Given the description of an element on the screen output the (x, y) to click on. 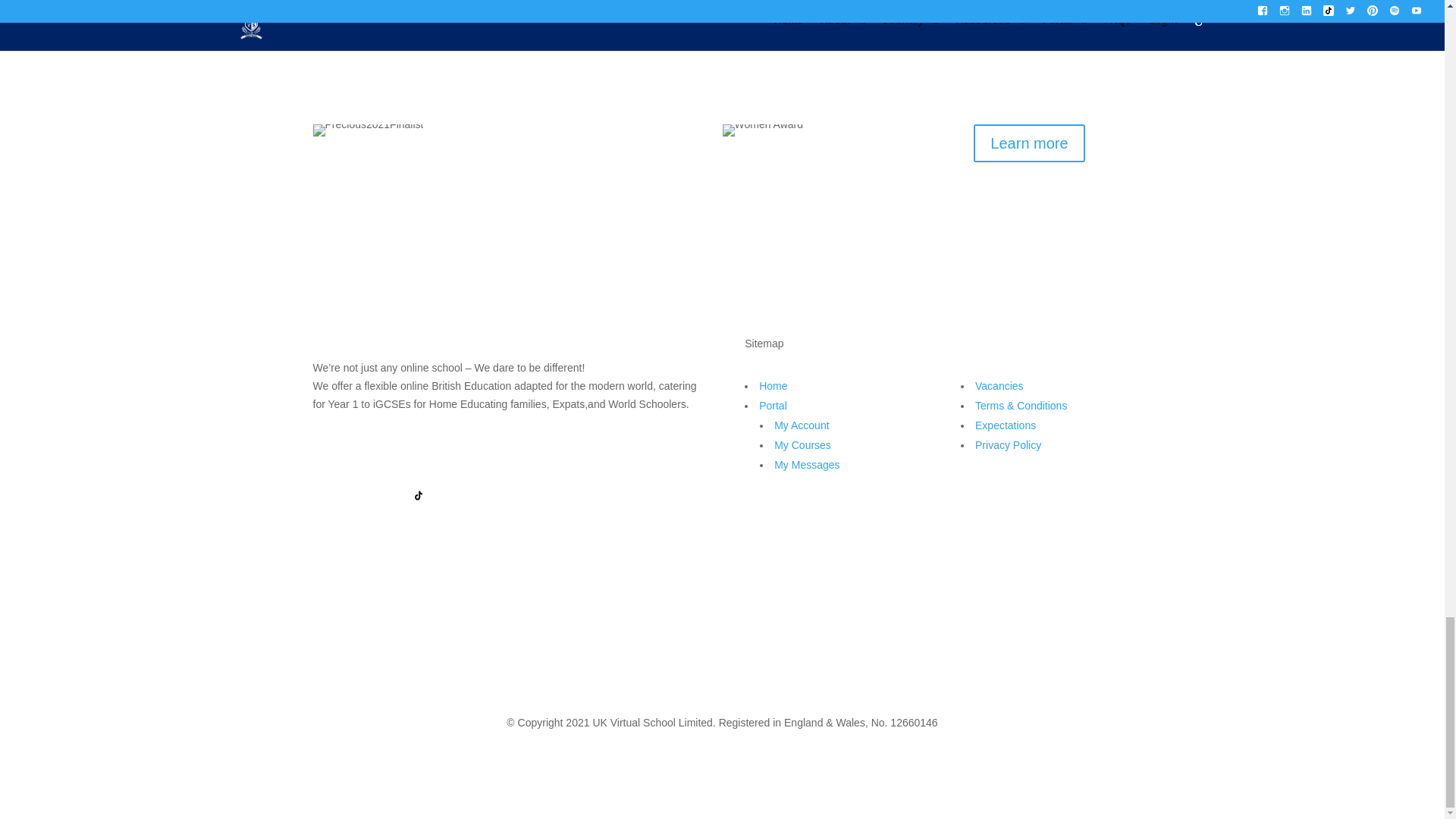
Precious2021Finalist (368, 130)
WomenAward (762, 130)
ABCC Diversity (414, 33)
